Given the description of an element on the screen output the (x, y) to click on. 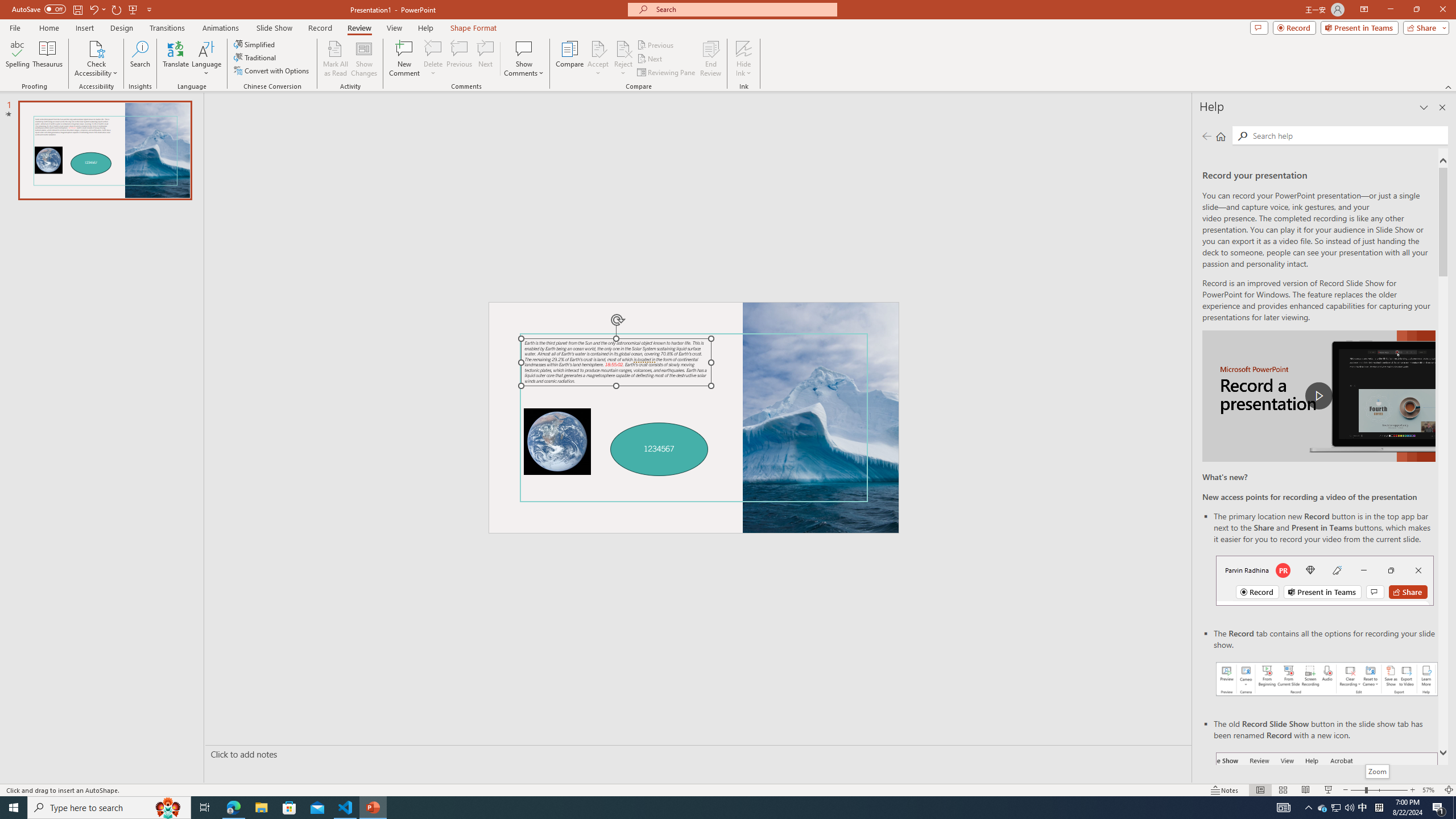
Previous page (1206, 136)
Compare (569, 58)
Accept Change (598, 48)
